Given the description of an element on the screen output the (x, y) to click on. 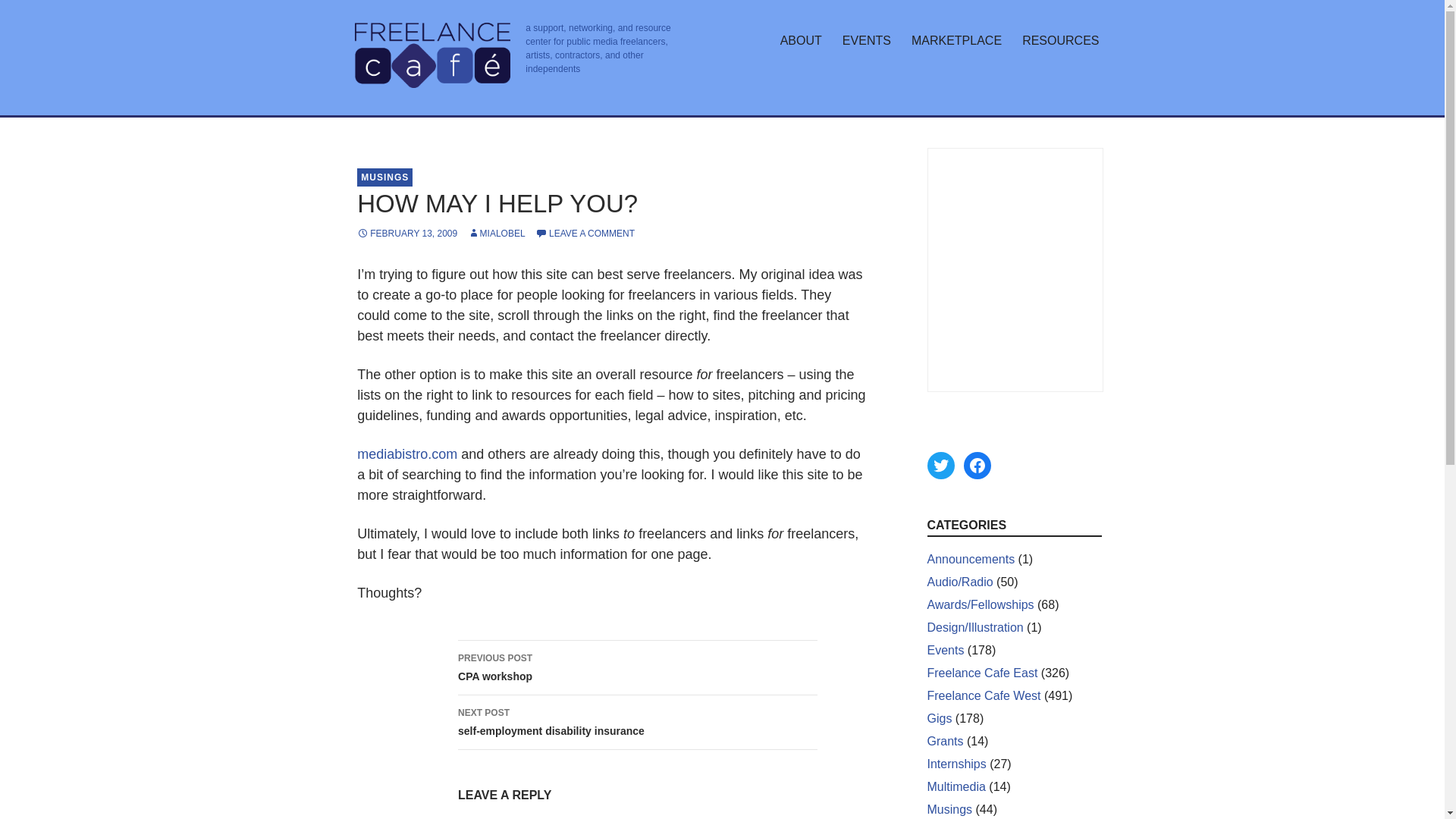
Events (944, 649)
ABOUT (801, 40)
Multimedia (637, 667)
FEBRUARY 13, 2009 (955, 786)
EVENTS (406, 233)
Facebook (865, 40)
Freelance Cafe West (976, 465)
